Given the description of an element on the screen output the (x, y) to click on. 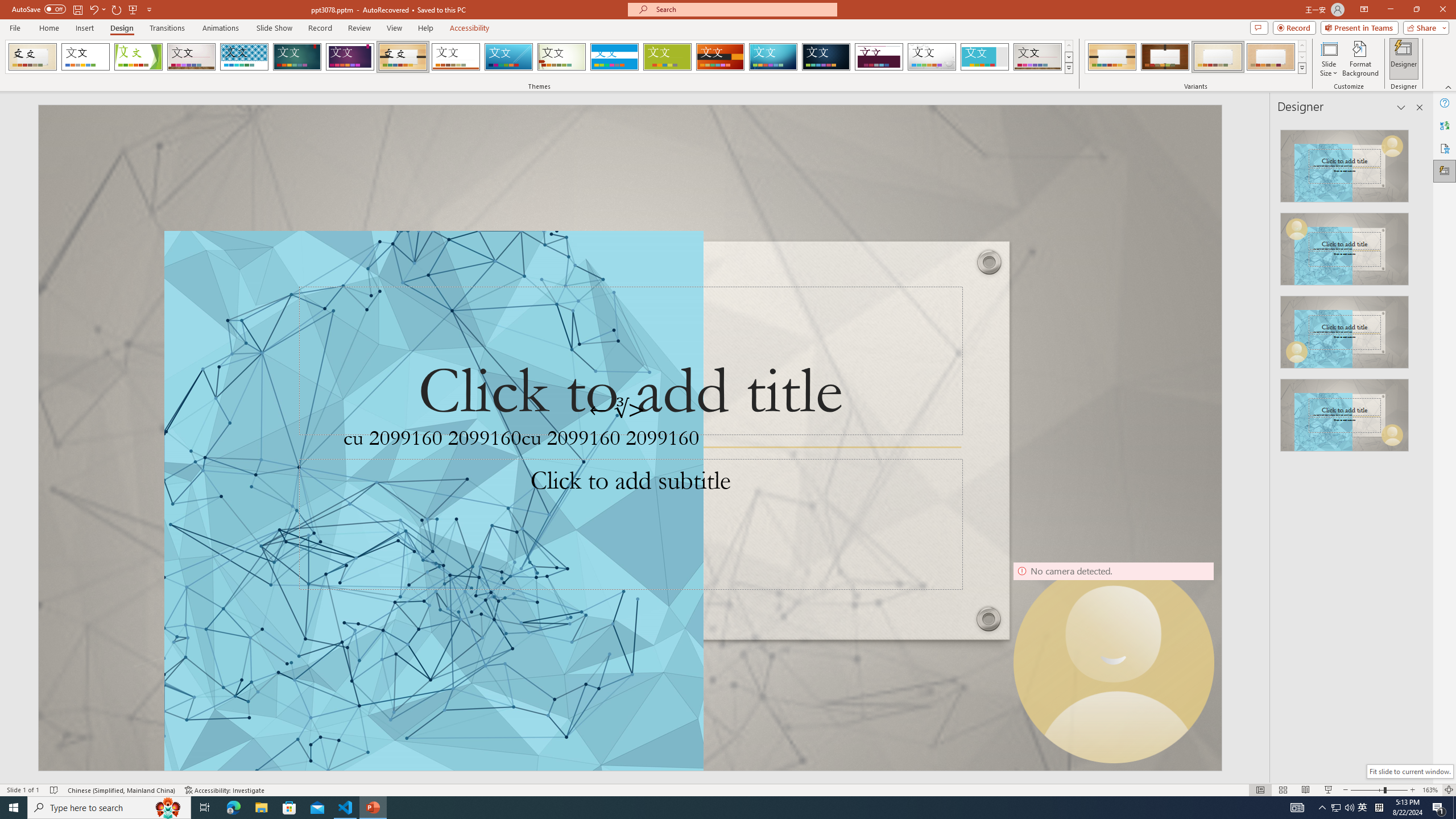
An abstract genetic concept (630, 437)
Row up (1301, 45)
Recommended Design: Design Idea (1344, 162)
Class: NetUIImage (1302, 68)
Restore Down (1416, 9)
From Beginning (133, 9)
Circuit (772, 56)
File Tab (15, 27)
Droplet (931, 56)
Redo (117, 9)
